Given the description of an element on the screen output the (x, y) to click on. 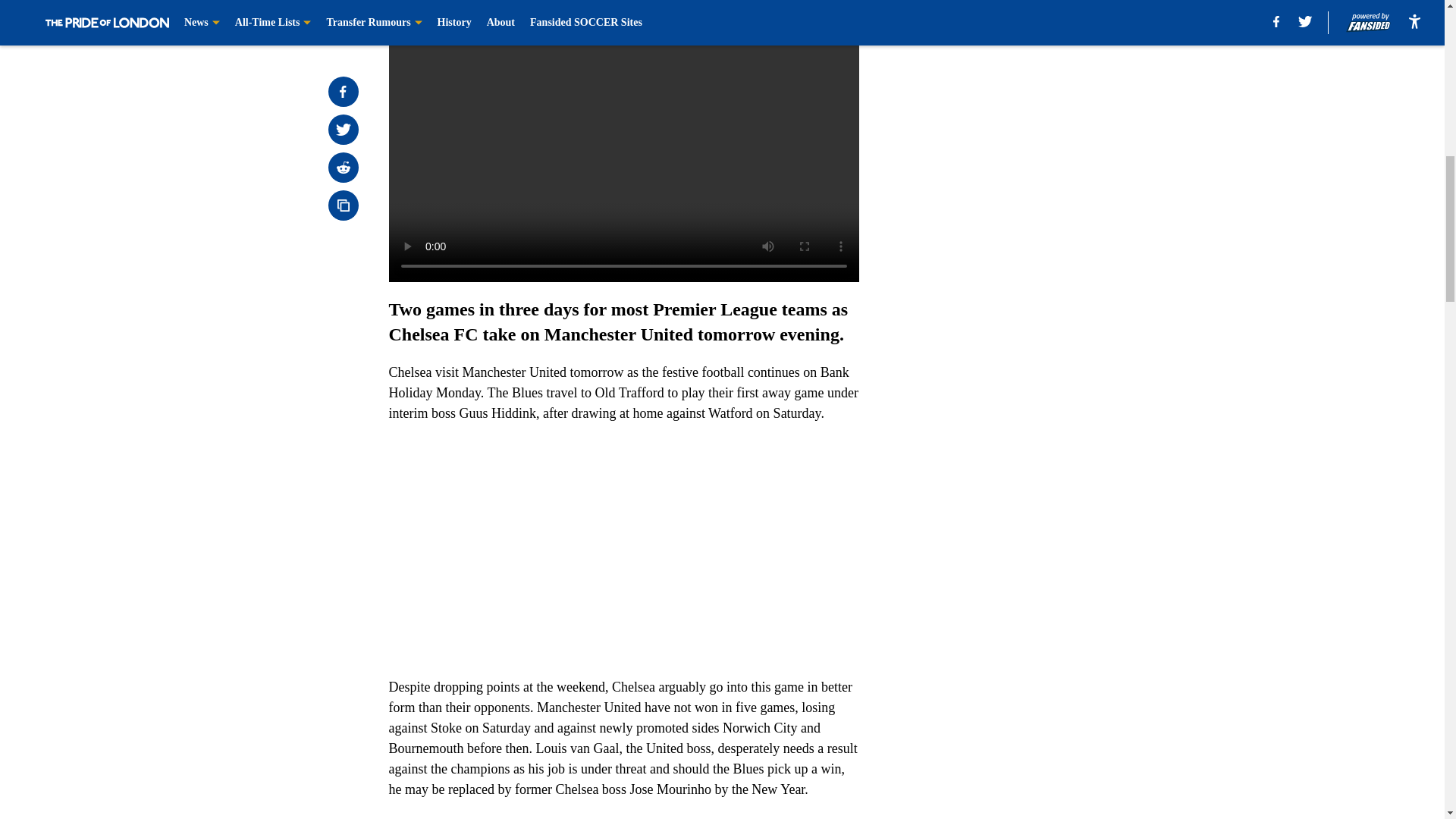
3rd party ad content (1047, 113)
3rd party ad content (1047, 332)
